Given the description of an element on the screen output the (x, y) to click on. 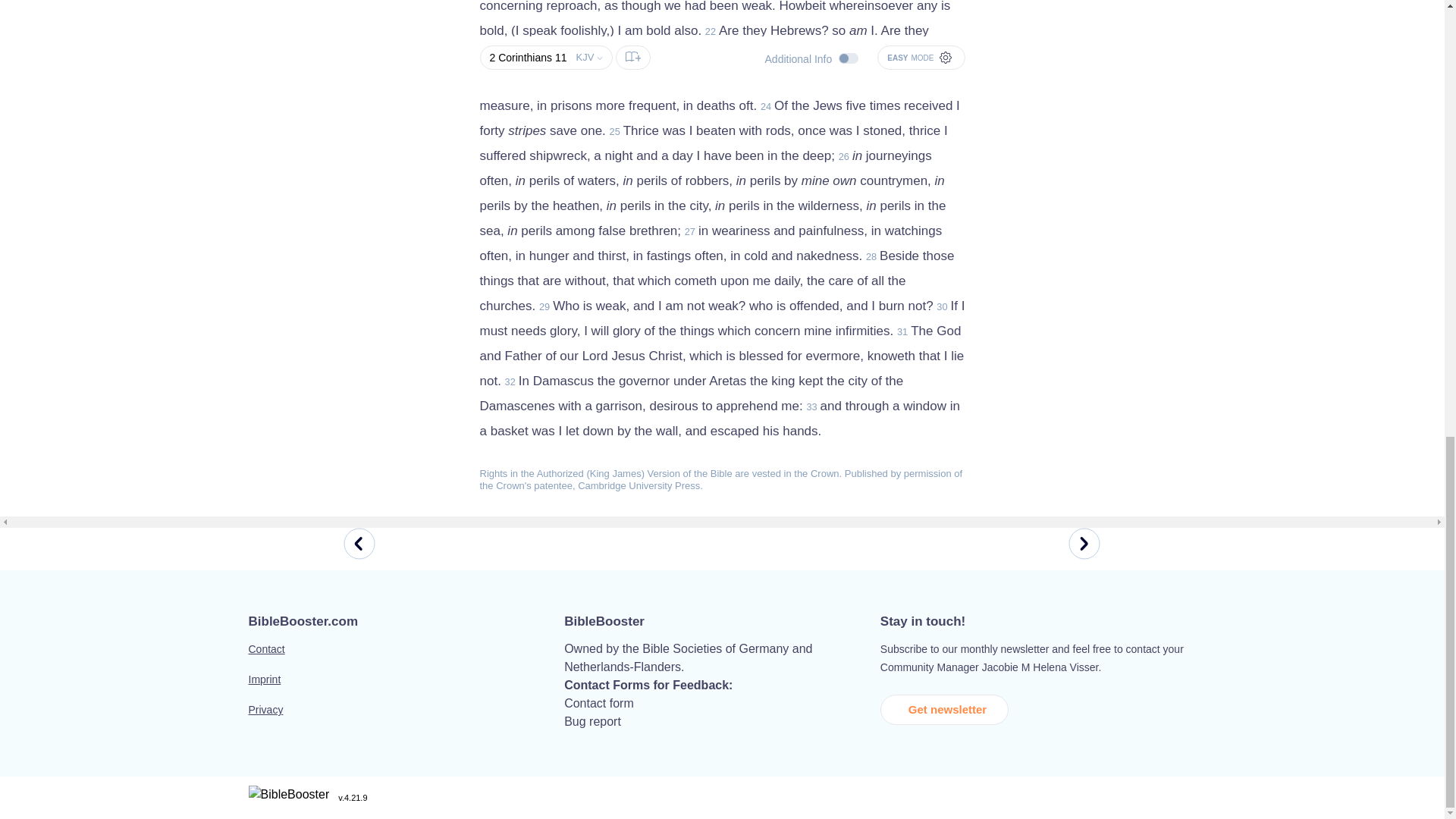
Imprint (406, 688)
Bug report (592, 721)
Contact (406, 657)
Privacy (406, 718)
Get newsletter (948, 708)
Contact form (598, 703)
Get newsletter (944, 709)
